Given the description of an element on the screen output the (x, y) to click on. 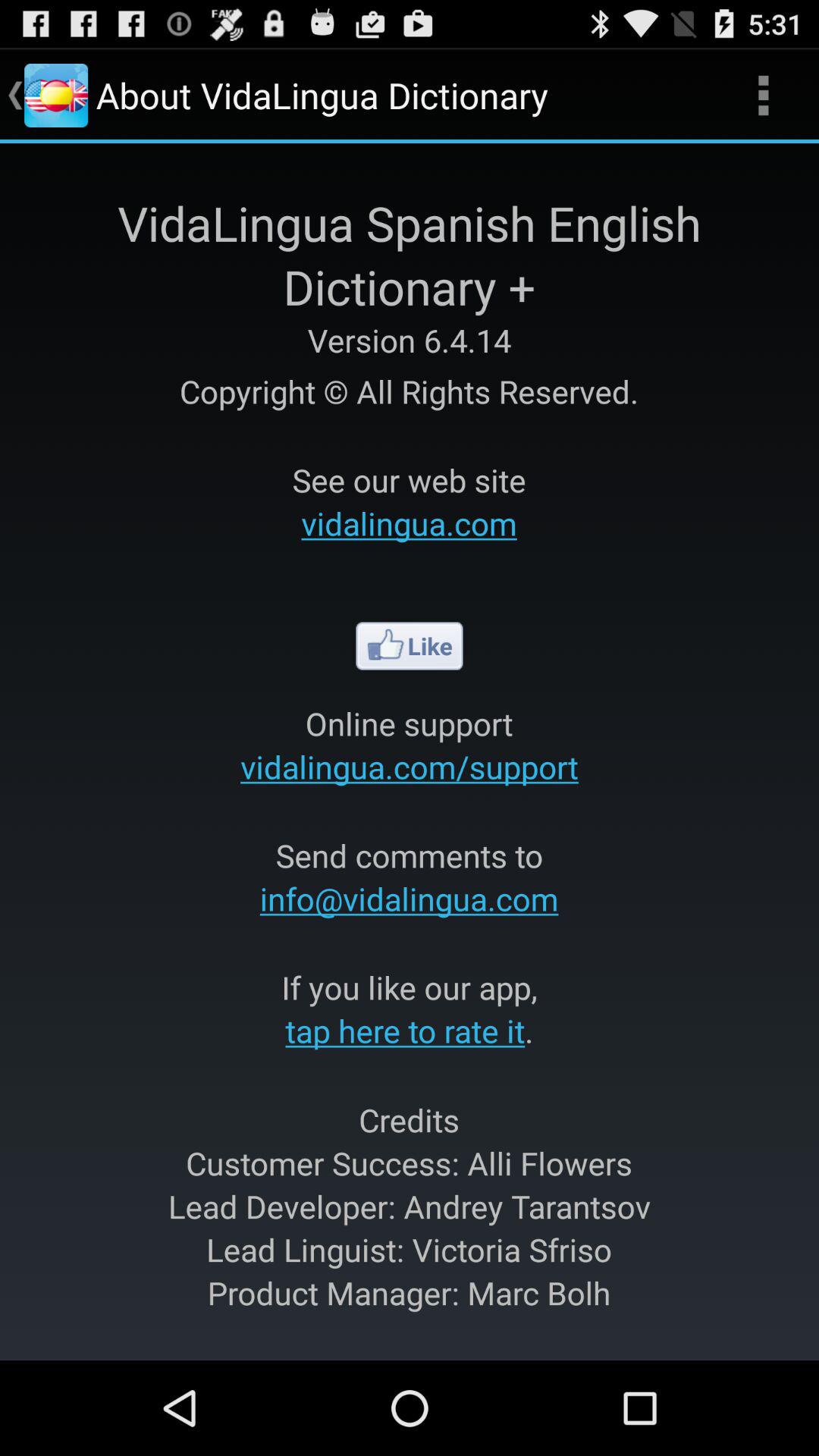
open app to the right of the about vidalingua dictionary app (763, 95)
